Given the description of an element on the screen output the (x, y) to click on. 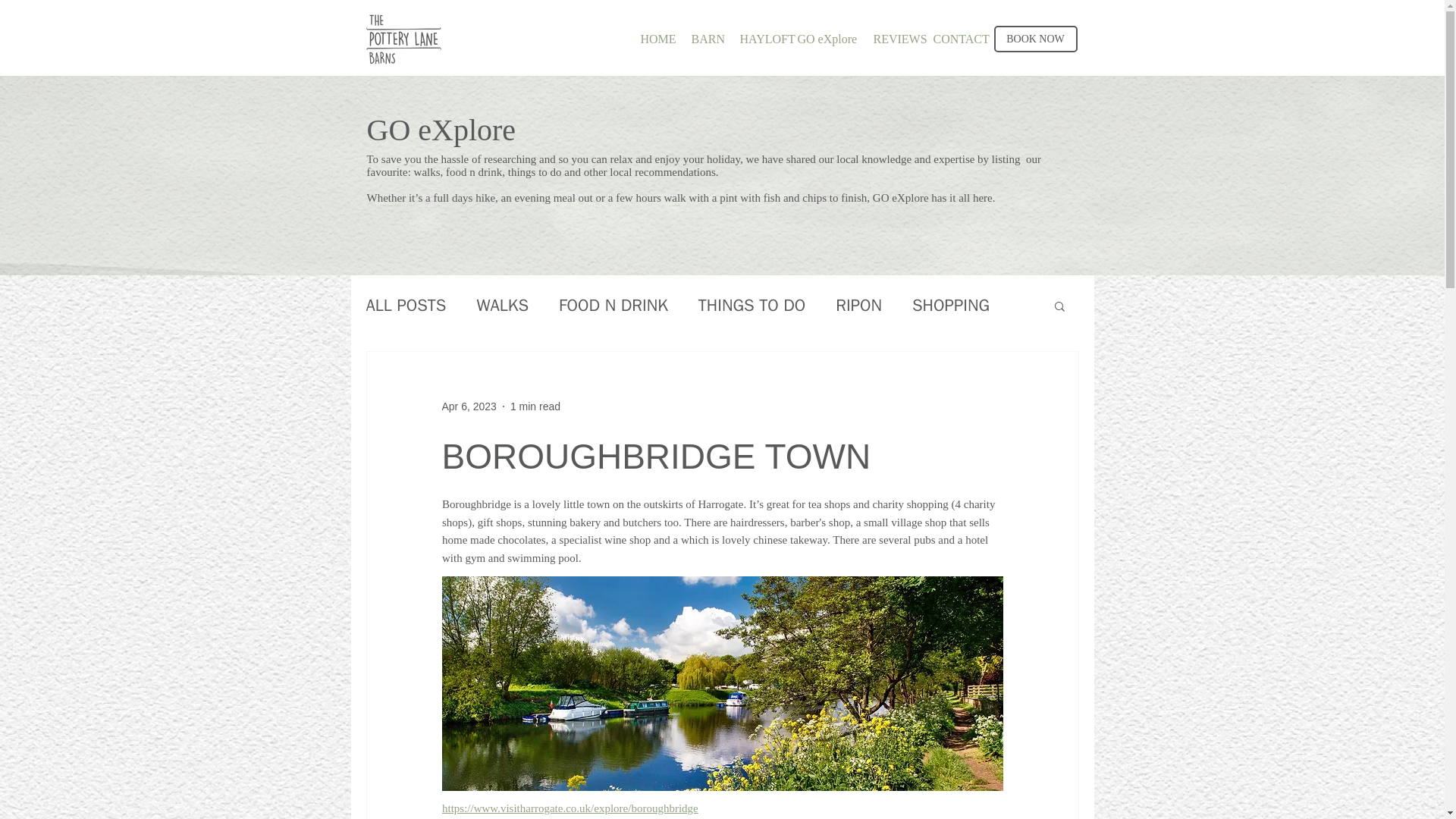
SHOPPING (951, 305)
RIPON (858, 305)
BARN (703, 37)
FOOD N DRINK (613, 305)
ALL POSTS (405, 305)
CONTACT (951, 37)
BOOK NOW (1034, 38)
HOME (653, 37)
GO eXplore (823, 37)
HAYLOFT (757, 37)
THINGS TO DO (752, 305)
REVIEWS (891, 37)
1 min read (535, 406)
Home (403, 39)
Apr 6, 2023 (468, 406)
